Given the description of an element on the screen output the (x, y) to click on. 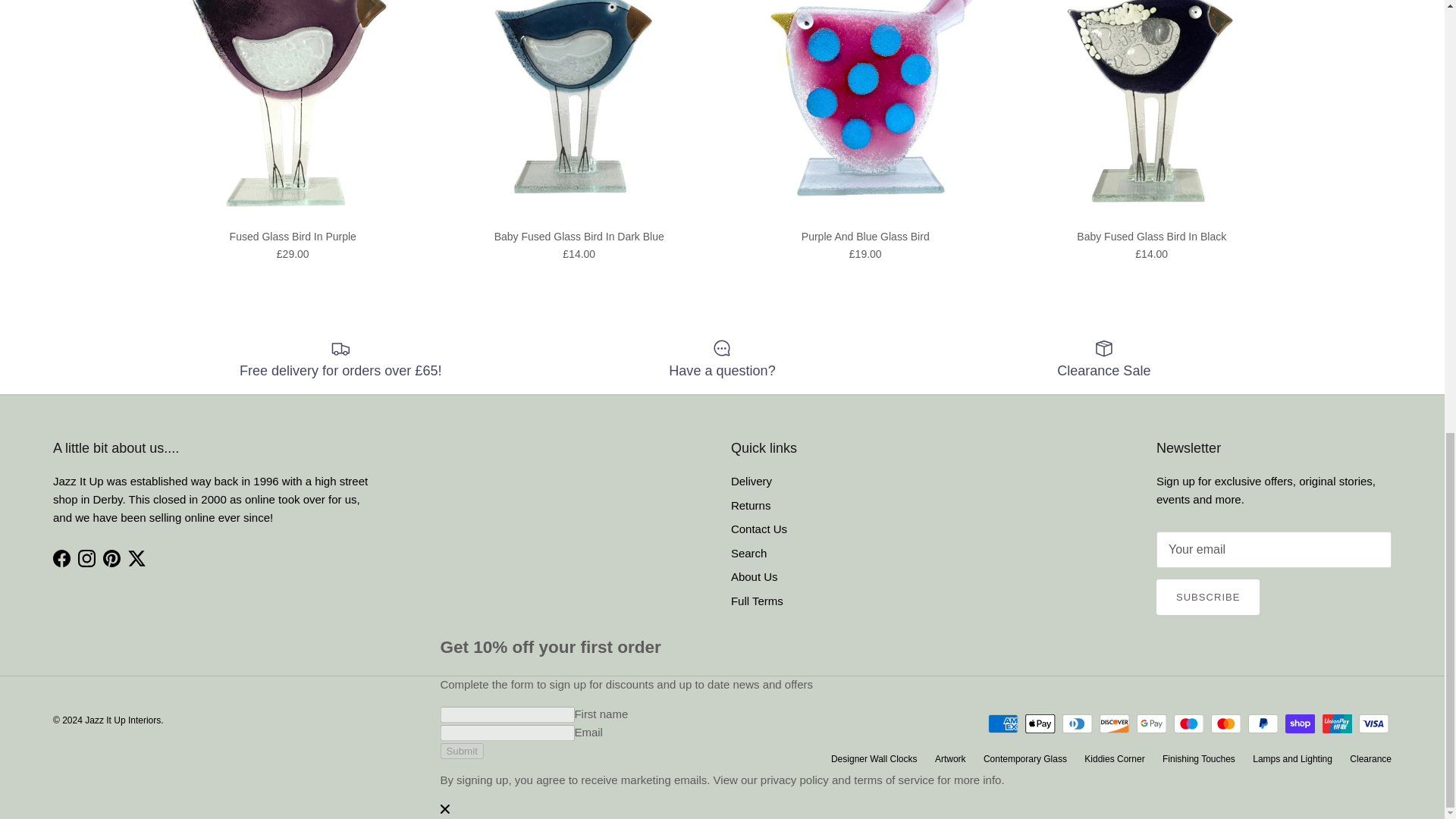
American Express (1002, 723)
Jazz It Up Interiors on Facebook (60, 558)
Apple Pay (1040, 723)
Jazz It Up Interiors on Twitter (136, 558)
Jazz It Up Interiors on Pinterest (111, 558)
Jazz It Up Interiors on Instagram (87, 558)
